Given the description of an element on the screen output the (x, y) to click on. 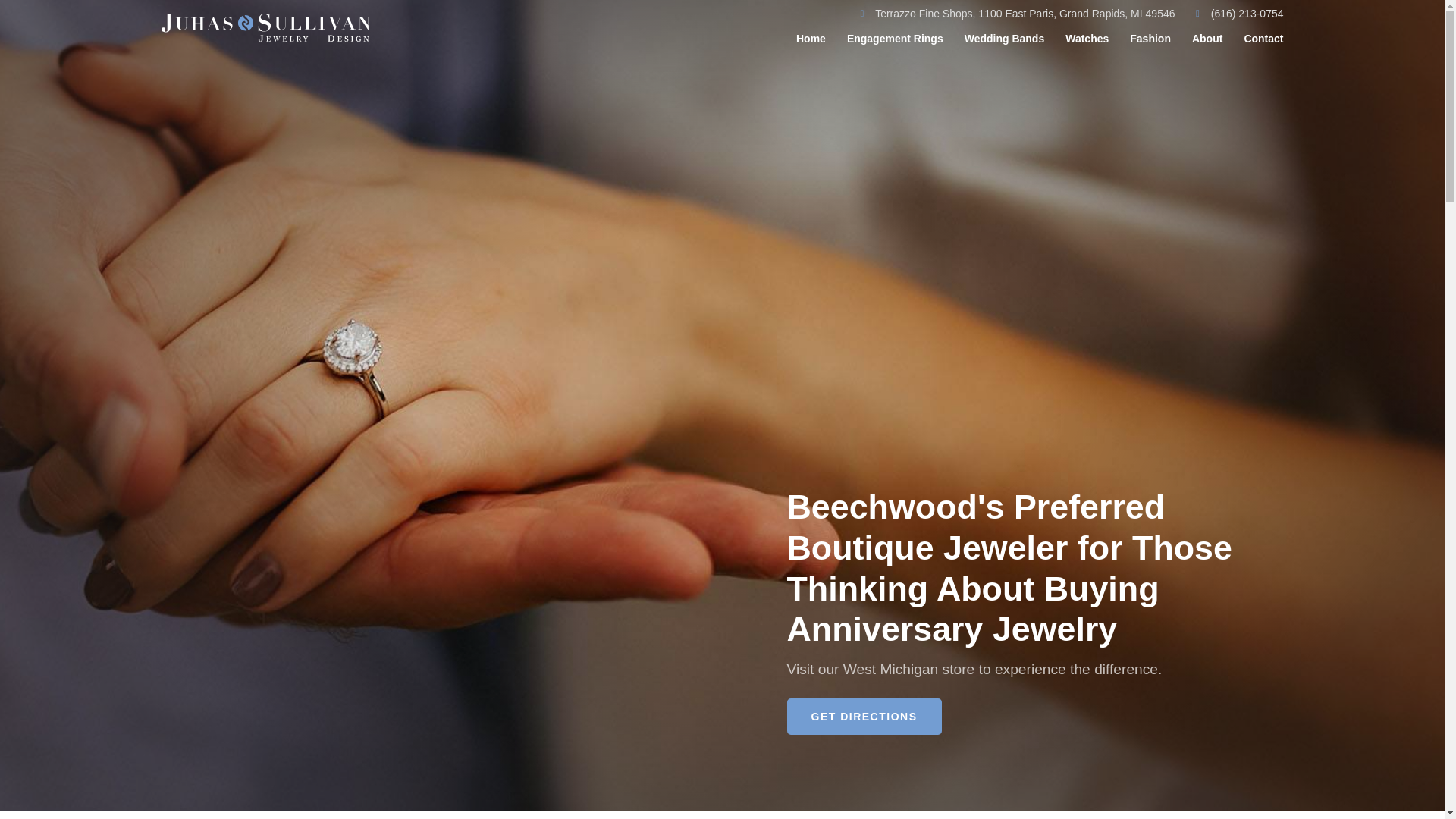
Fashion (1149, 38)
Contact (1262, 38)
Home (810, 38)
About (1207, 38)
Watches (1086, 38)
Wedding Bands (1004, 38)
Engagement Rings (895, 38)
Terrazzo Fine Shops, 1100 East Paris, Grand Rapids, MI 49546 (1012, 13)
